Given the description of an element on the screen output the (x, y) to click on. 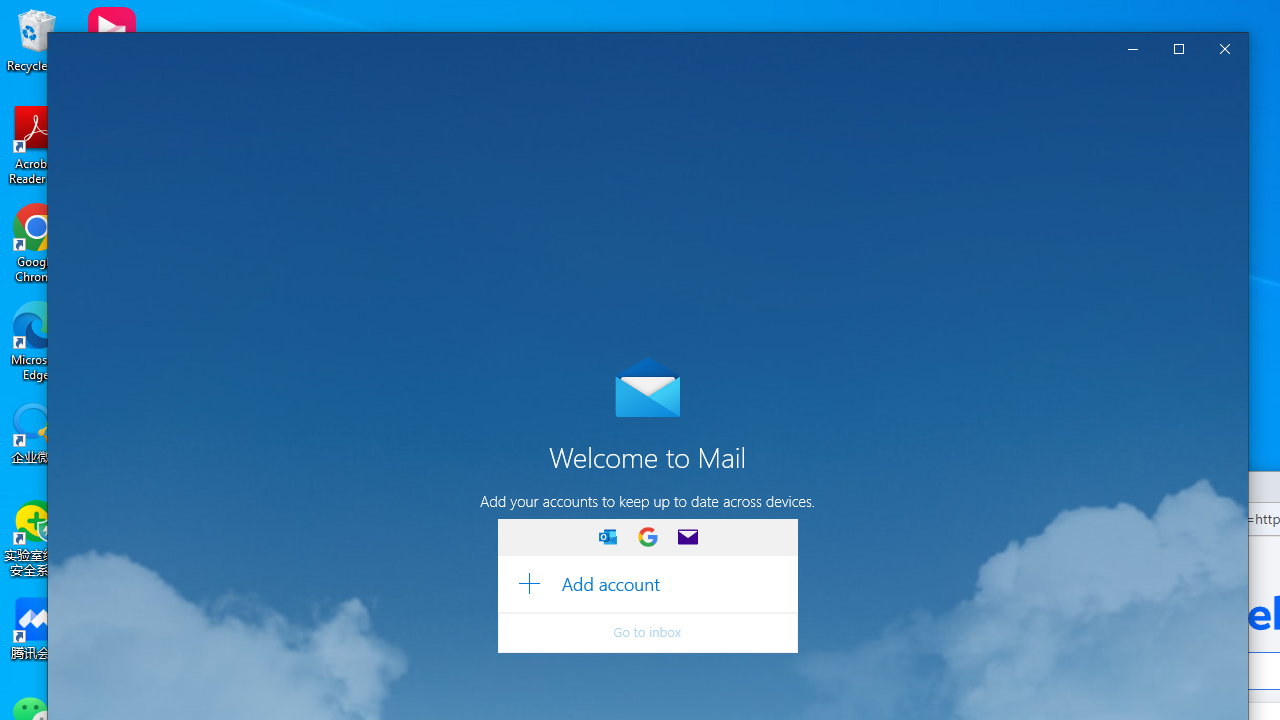
Enter selection mode (662, 145)
Navigation (72, 88)
Try the new Outlook (1064, 88)
Sync this view (614, 145)
More (178, 401)
New mail (178, 137)
Dismiss (1193, 88)
Learn more (731, 88)
Manage accounts (178, 196)
Submit search (570, 146)
Inbox folder, favorite (178, 359)
